Given the description of an element on the screen output the (x, y) to click on. 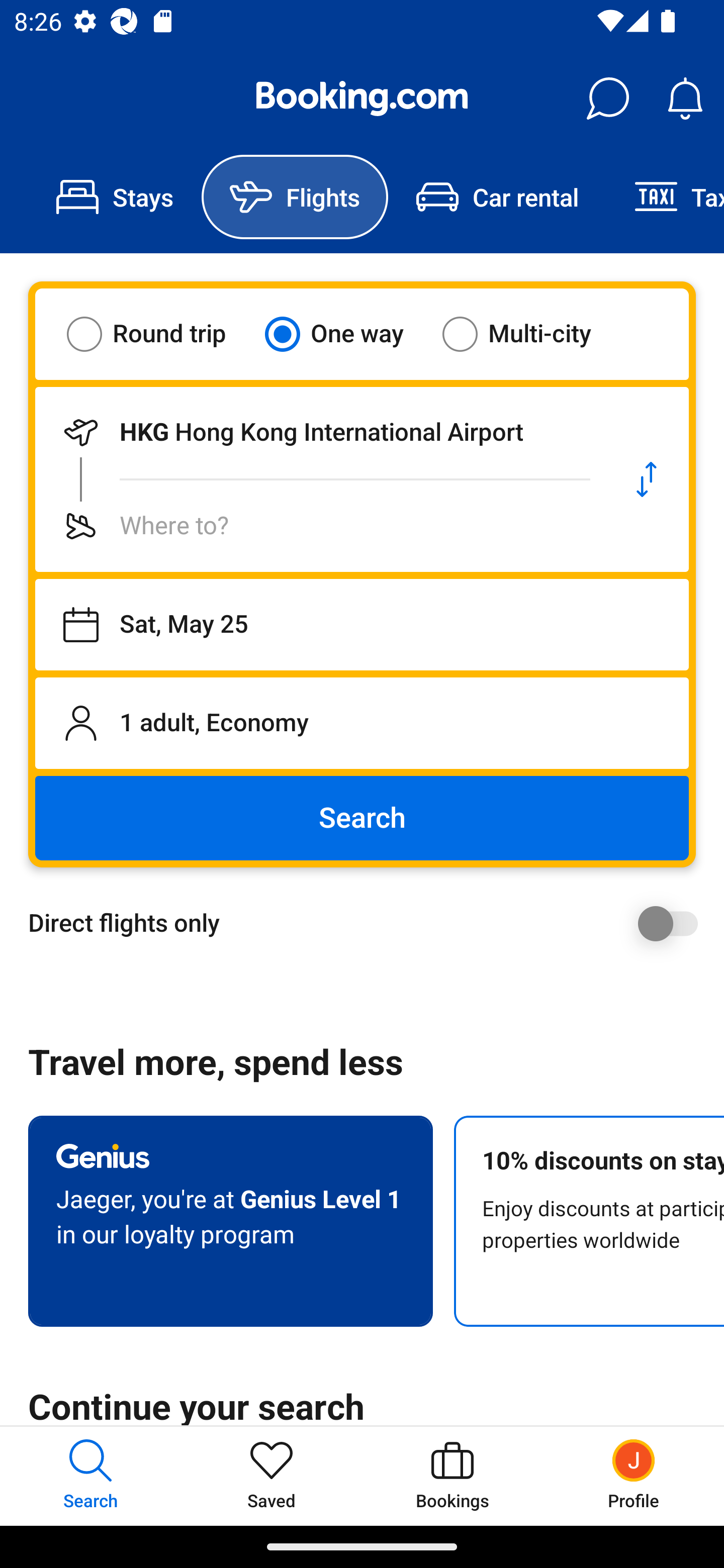
Messages (607, 98)
Notifications (685, 98)
Stays (114, 197)
Flights (294, 197)
Car rental (497, 197)
Taxi (665, 197)
Round trip (158, 333)
Multi-city (528, 333)
Departing from HKG Hong Kong International Airport (319, 432)
Swap departure location and destination (646, 479)
Flying to  (319, 525)
Departing on Sat, May 25 (361, 624)
1 adult, Economy (361, 722)
Search (361, 818)
Direct flights only (369, 923)
Saved (271, 1475)
Bookings (452, 1475)
Profile (633, 1475)
